Given the description of an element on the screen output the (x, y) to click on. 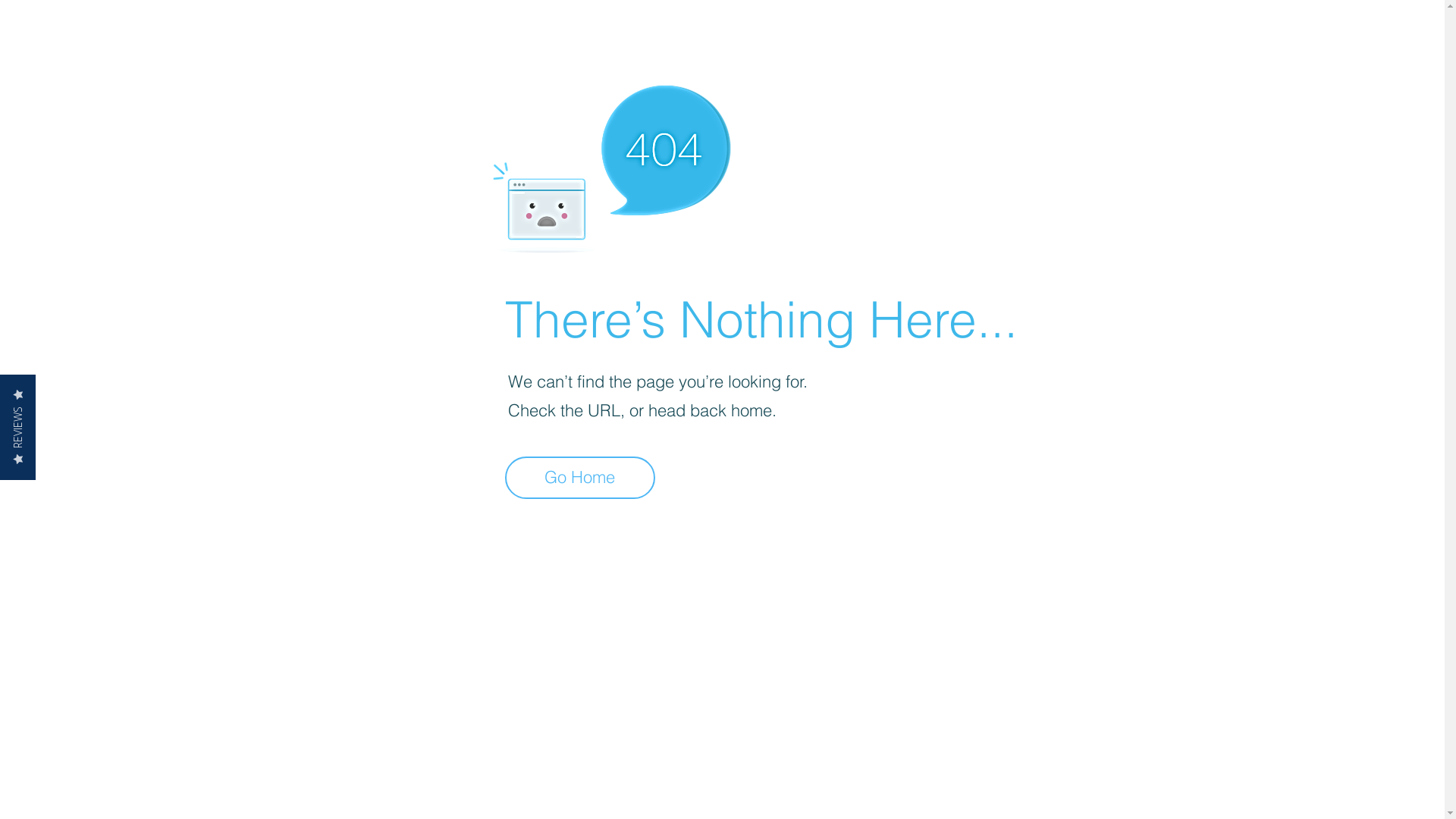
 REVIEWS  Element type: text (52, 392)
Go Home Element type: text (580, 477)
404-icon_2.png Element type: hover (610, 164)
